Given the description of an element on the screen output the (x, y) to click on. 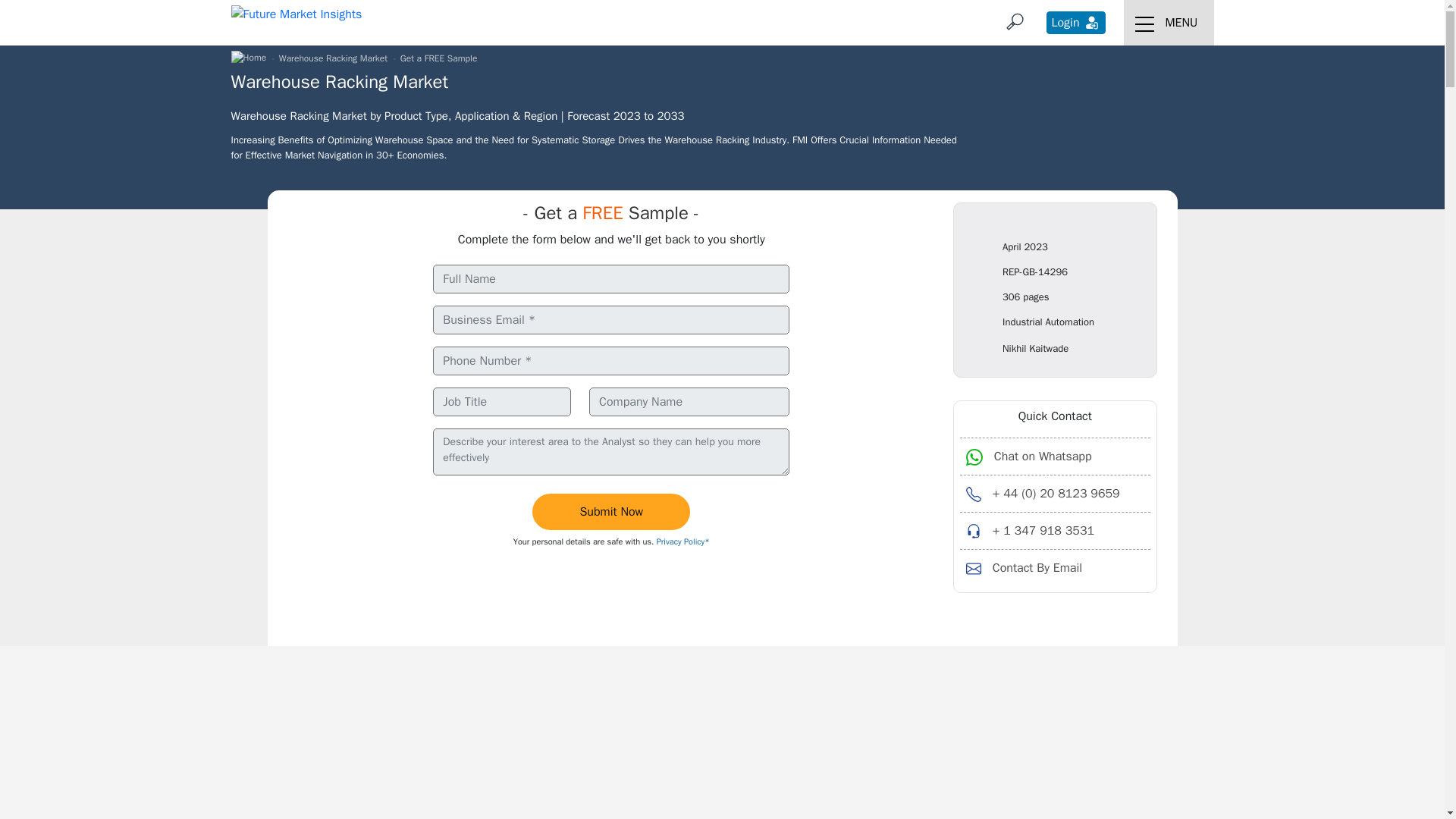
Future Market Insights (295, 13)
Login (1075, 22)
Login (1075, 22)
Submit Now (611, 511)
Nikhil Kaitwade (1035, 349)
Warehouse Racking Market (333, 58)
Contact By Email (1054, 567)
Search Reports (1014, 21)
Chat on Whatsapp (1054, 456)
Future Market Insights (295, 13)
Login (1091, 22)
Industrial Automation (1048, 323)
